Given the description of an element on the screen output the (x, y) to click on. 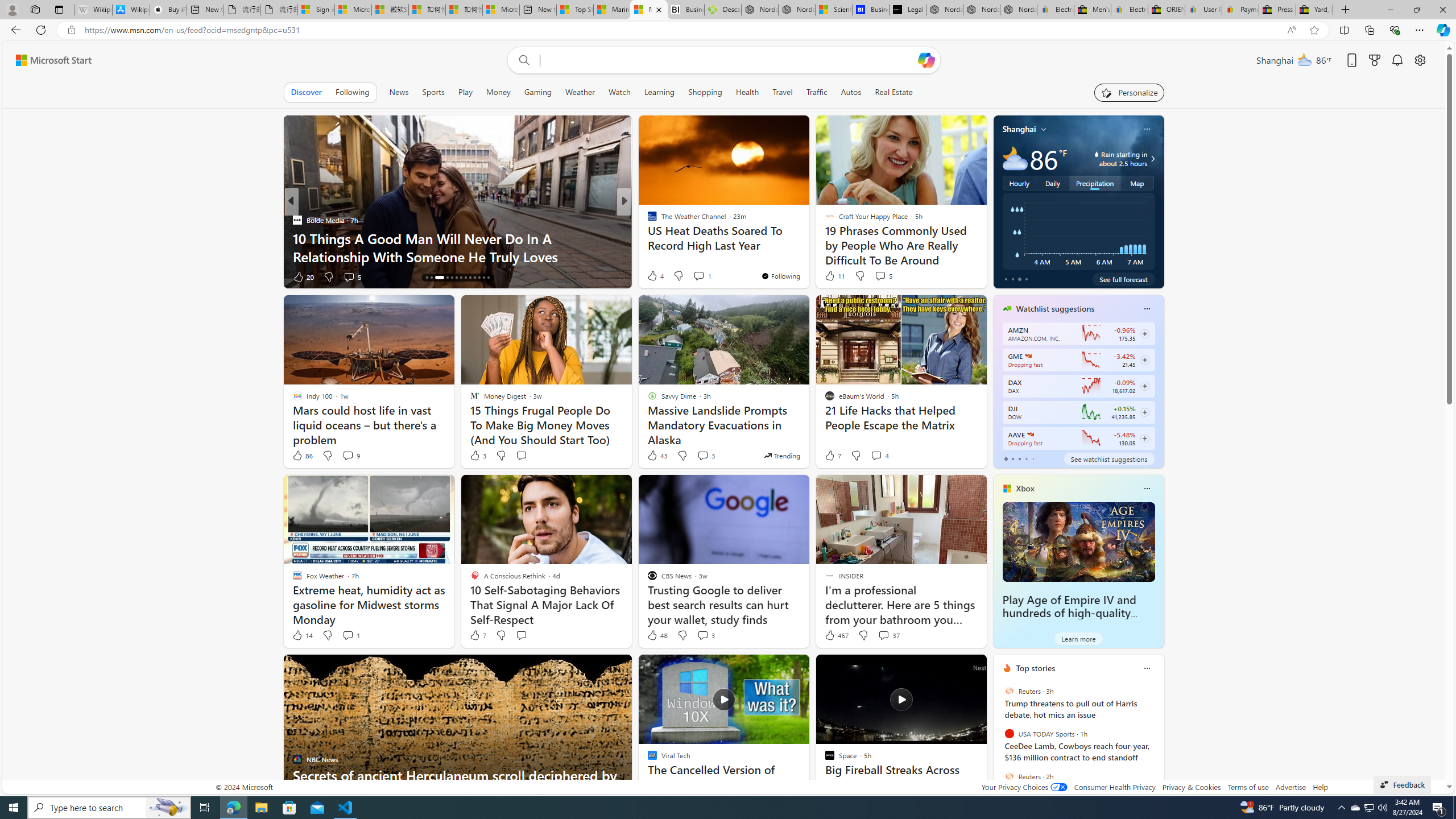
View comments 5 Comment (882, 275)
Map (1137, 183)
Watch (619, 92)
GAMESTOP CORP. (1028, 355)
Play (465, 92)
View comments 339 Comment (709, 276)
Personalize your feed" (1129, 92)
Mostly cloudy (1014, 158)
Autos (850, 92)
